Given the description of an element on the screen output the (x, y) to click on. 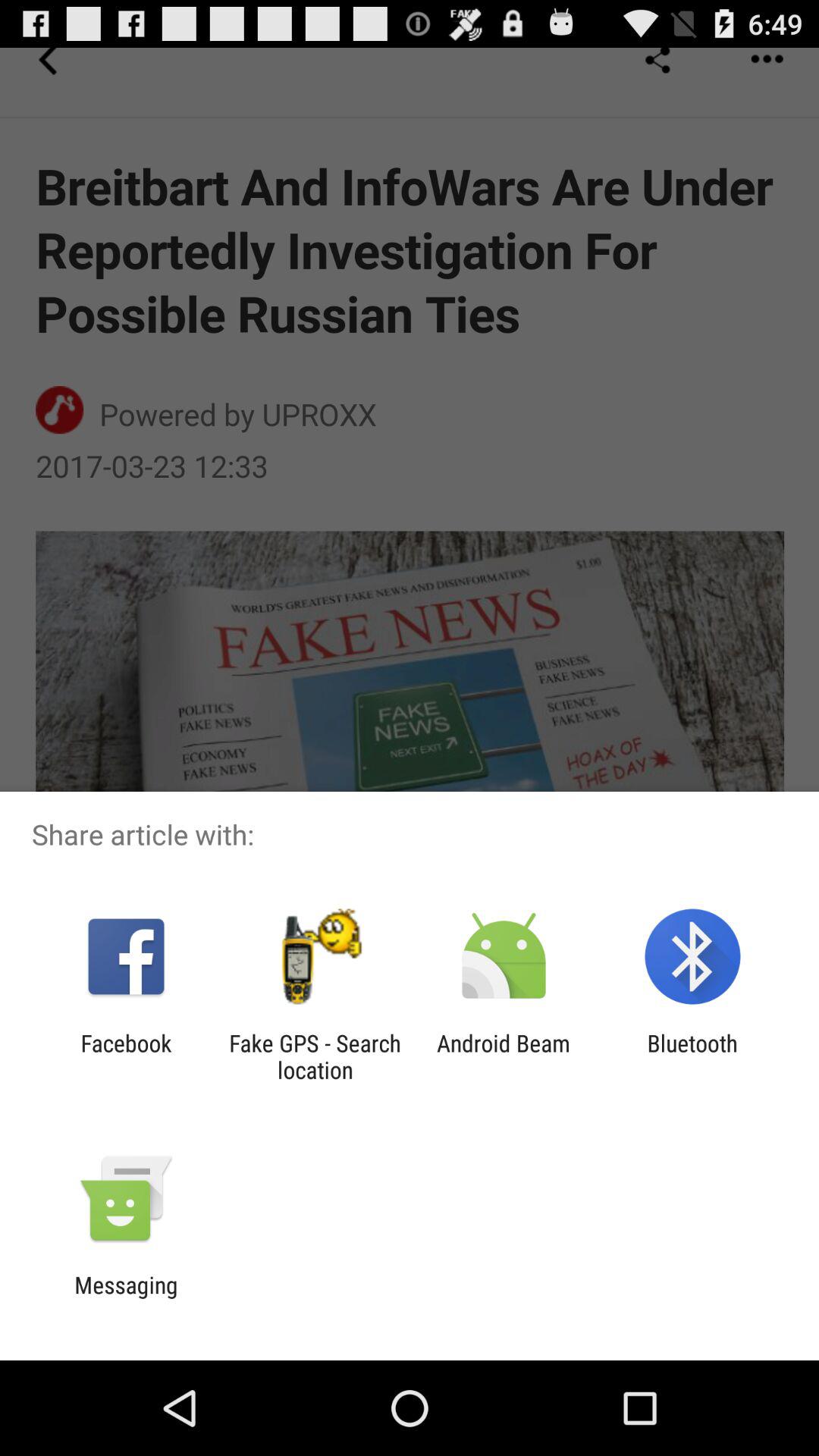
tap icon to the left of the bluetooth app (503, 1056)
